Given the description of an element on the screen output the (x, y) to click on. 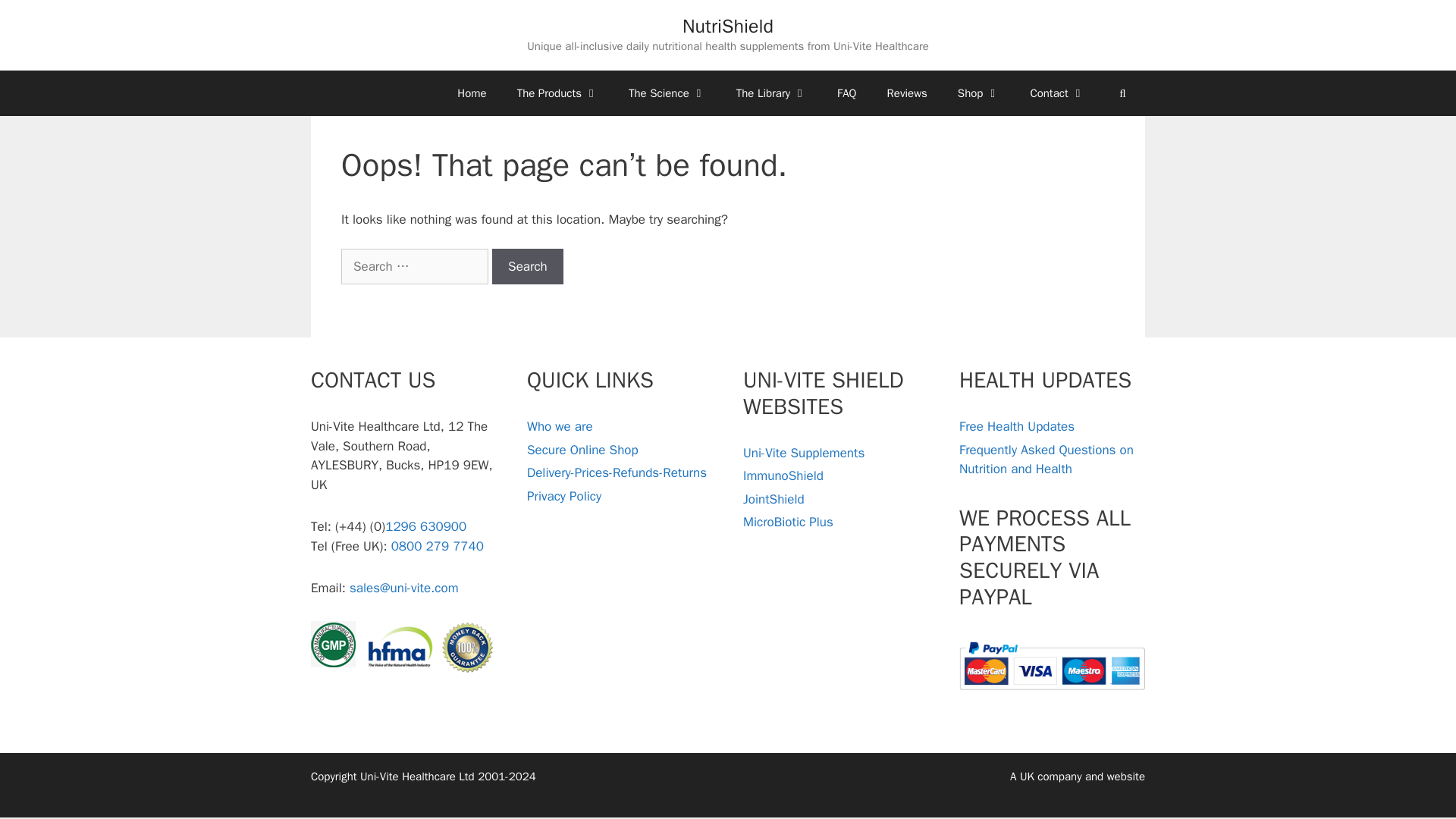
Search (527, 266)
Search (527, 266)
Home (471, 92)
Search for: (413, 266)
Shop (978, 92)
FAQ (846, 92)
Reviews (907, 92)
NutriShield (727, 25)
The Library (771, 92)
The Products (557, 92)
The Science (666, 92)
How PayPal Works (1051, 693)
